Given the description of an element on the screen output the (x, y) to click on. 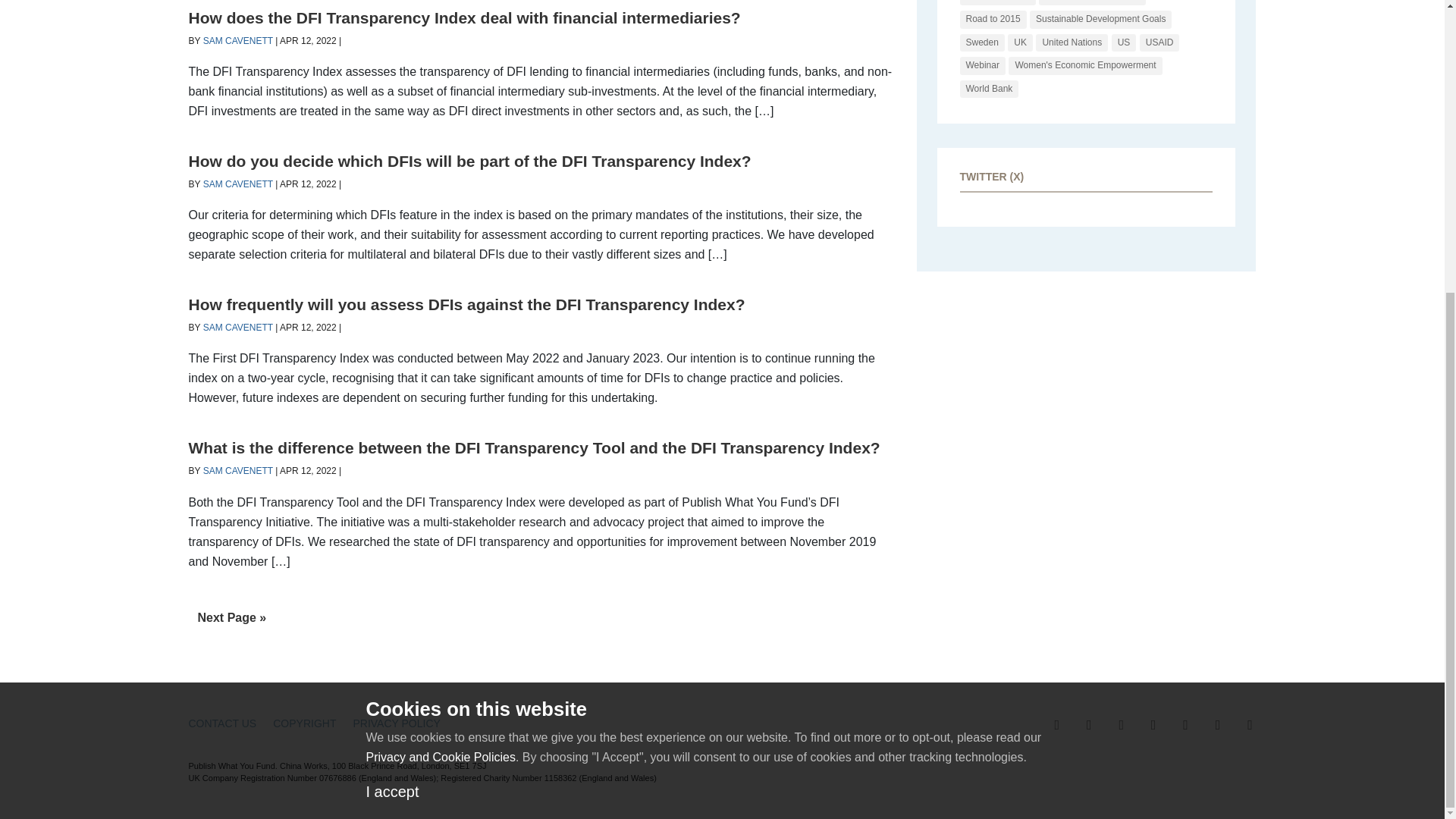
Posts by Sam Cavenett (238, 184)
Posts by Sam Cavenett (238, 327)
Posts by Sam Cavenett (238, 470)
Posts by Sam Cavenett (238, 40)
